Given the description of an element on the screen output the (x, y) to click on. 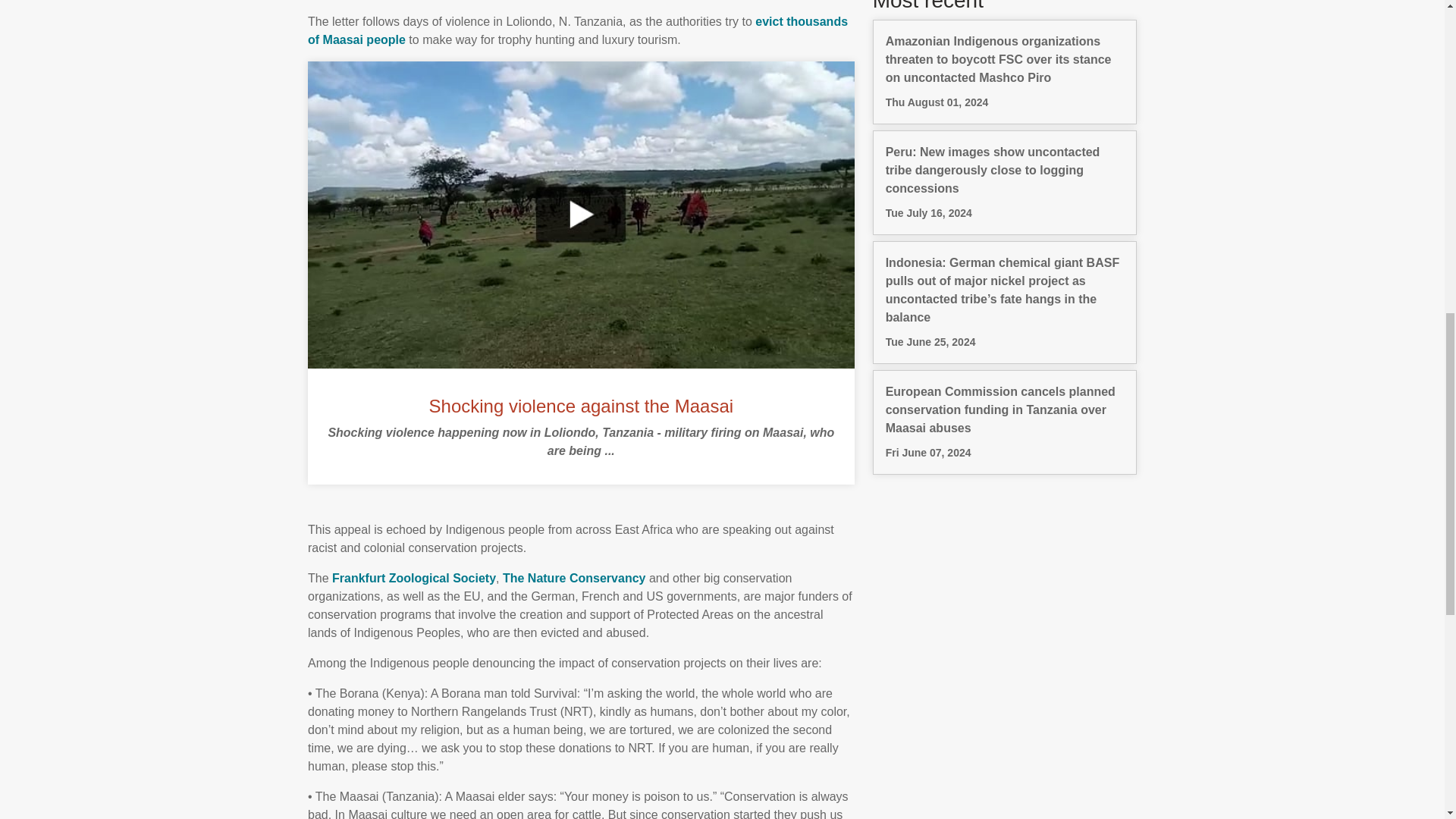
FZS (413, 577)
